Given the description of an element on the screen output the (x, y) to click on. 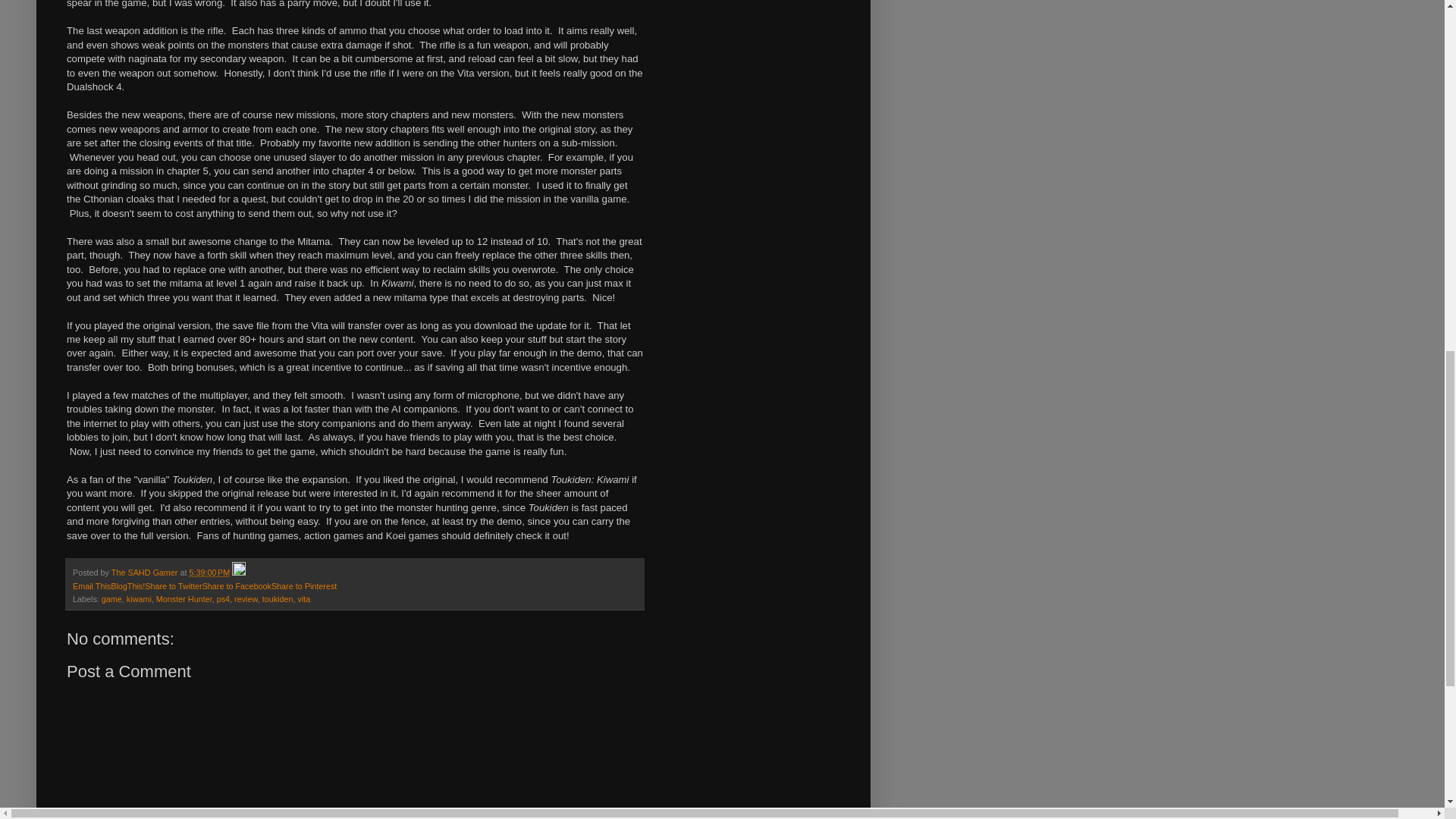
kiwami (138, 598)
toukiden (278, 598)
Email This (91, 585)
Email This (91, 585)
Share to Twitter (173, 585)
Share to Facebook (236, 585)
The SAHD Gamer (146, 572)
Share to Pinterest (303, 585)
vita (304, 598)
